Given the description of an element on the screen output the (x, y) to click on. 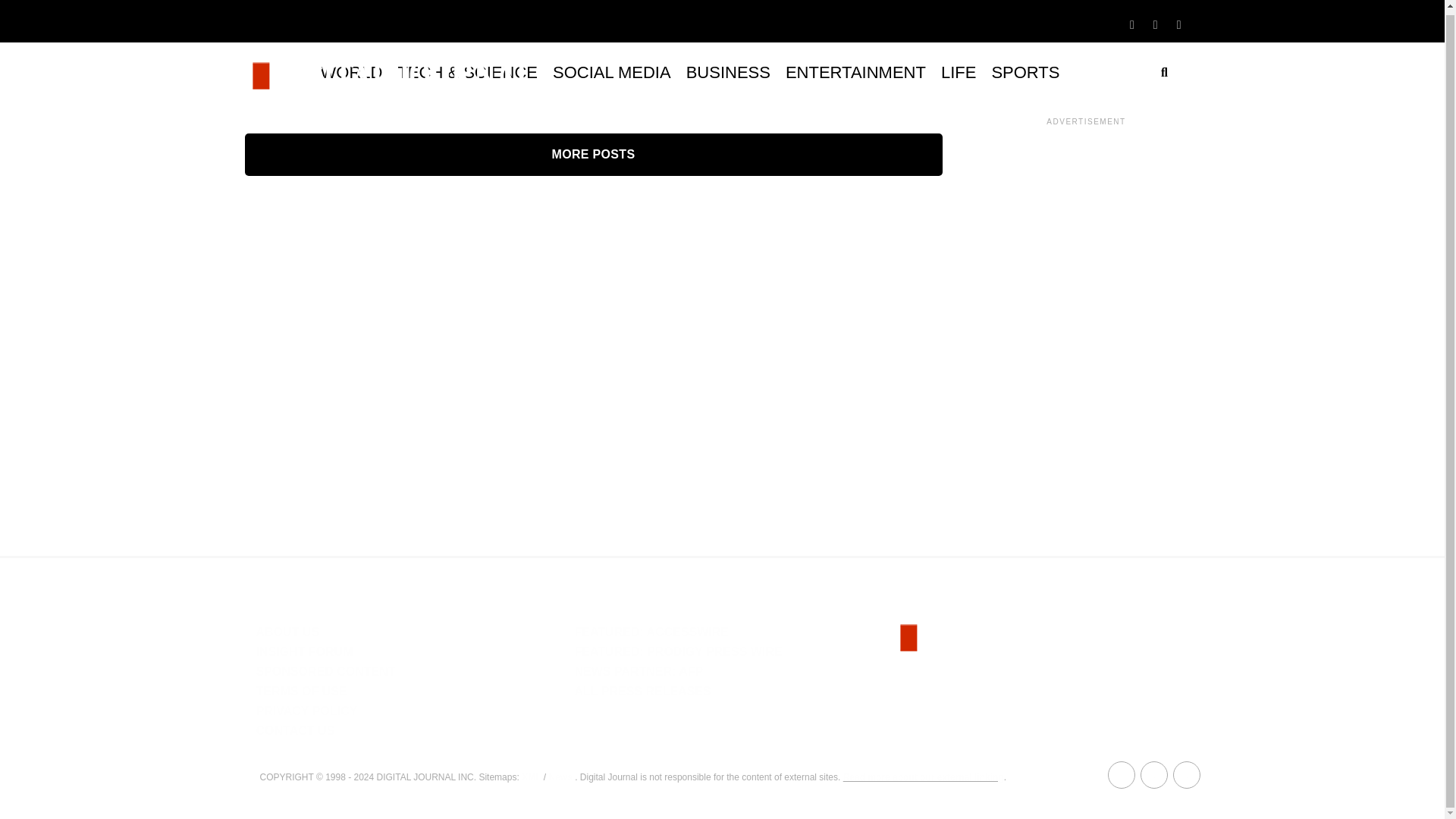
FEATURED: PRODIGY PRESS WIRE (677, 651)
News (560, 776)
FEATURED: ACCESSWIRE (651, 631)
XML (530, 776)
MORE POSTS (593, 154)
ENTERTAINMENT (855, 72)
CONTACT US (295, 730)
Read more about our external linking (923, 776)
ALL PRESS RELEASES (641, 690)
WORLD (351, 72)
